Given the description of an element on the screen output the (x, y) to click on. 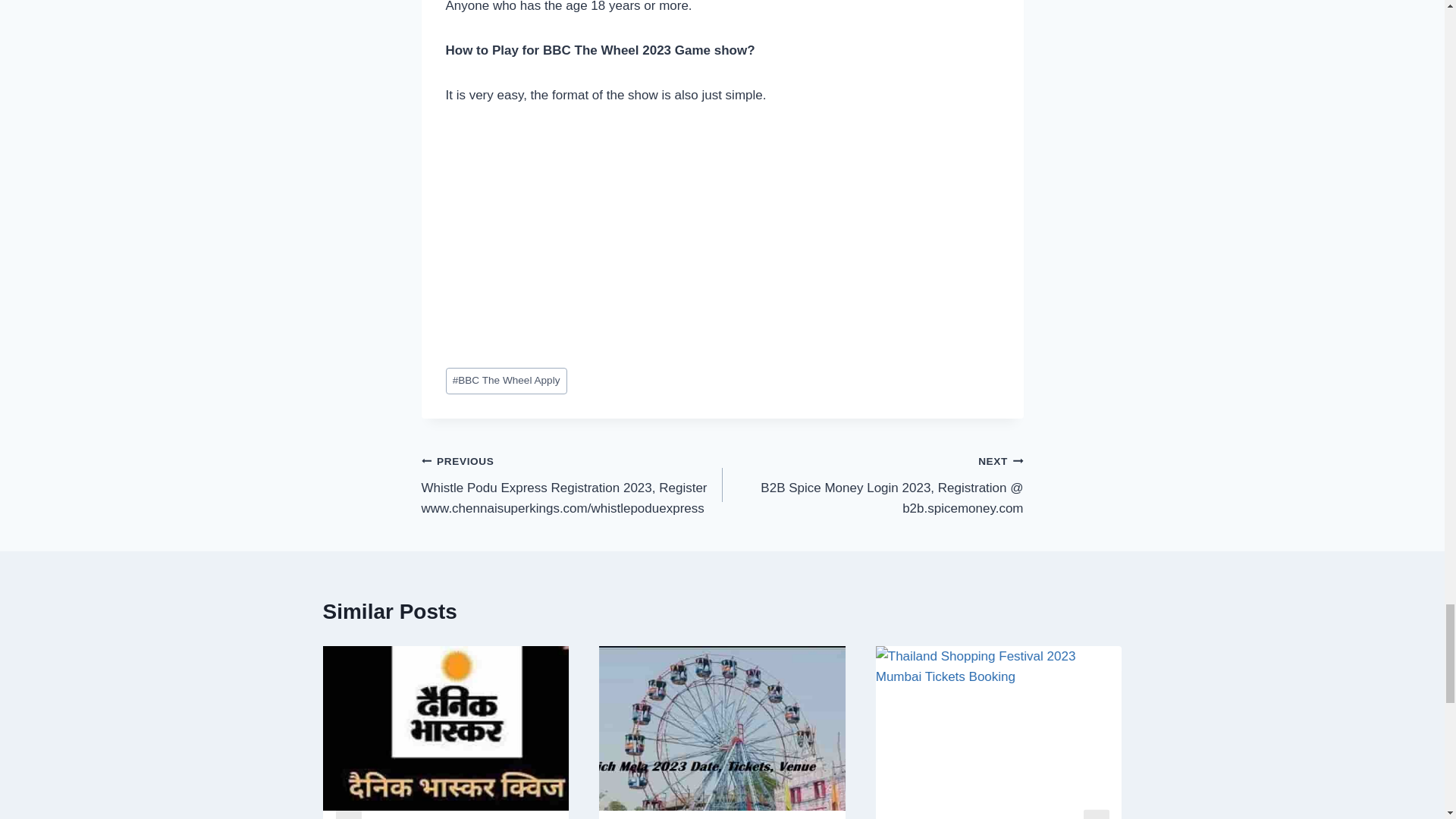
BBC The Wheel Apply (506, 380)
